Given the description of an element on the screen output the (x, y) to click on. 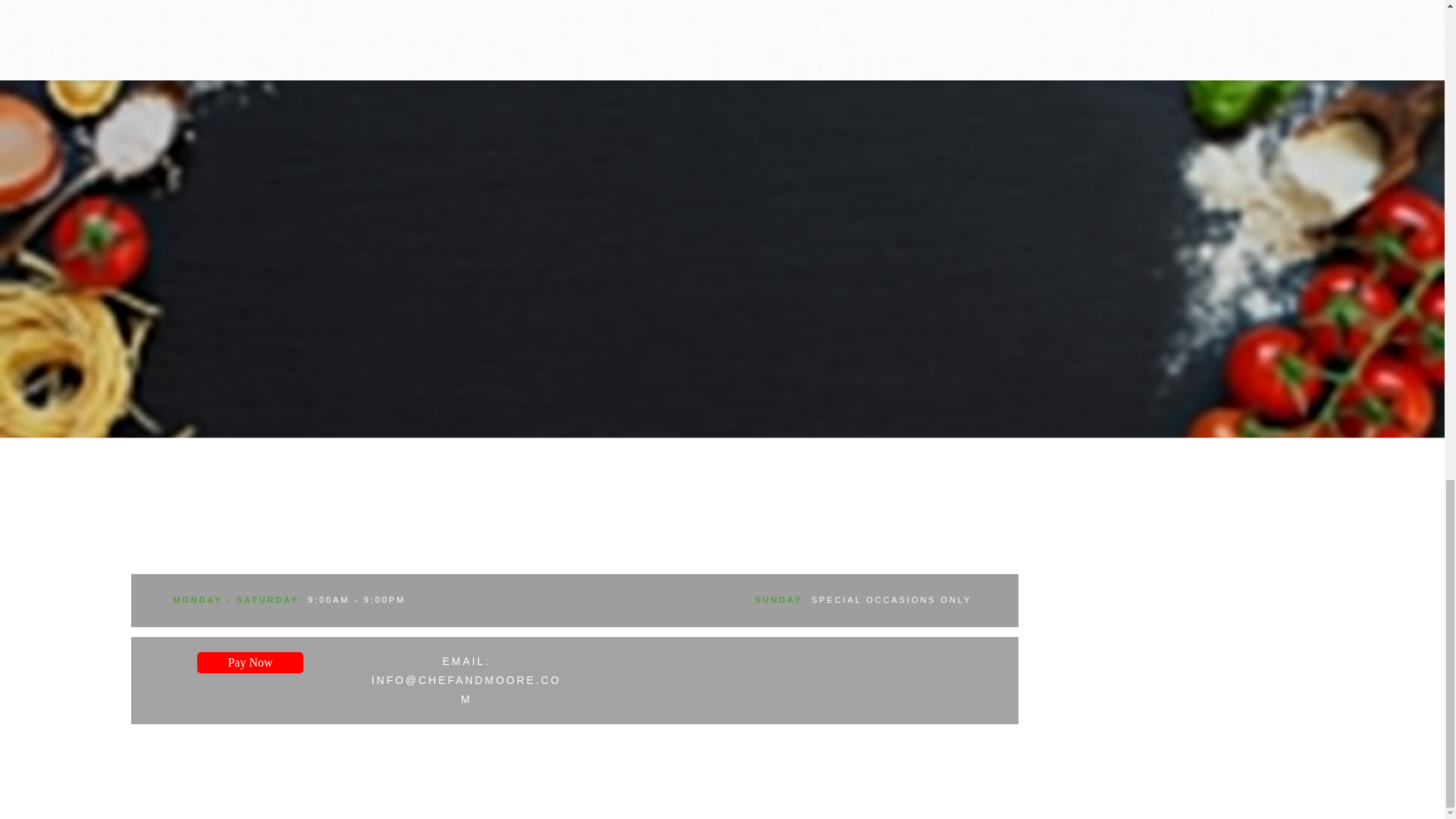
Pay Now (249, 662)
